Given the description of an element on the screen output the (x, y) to click on. 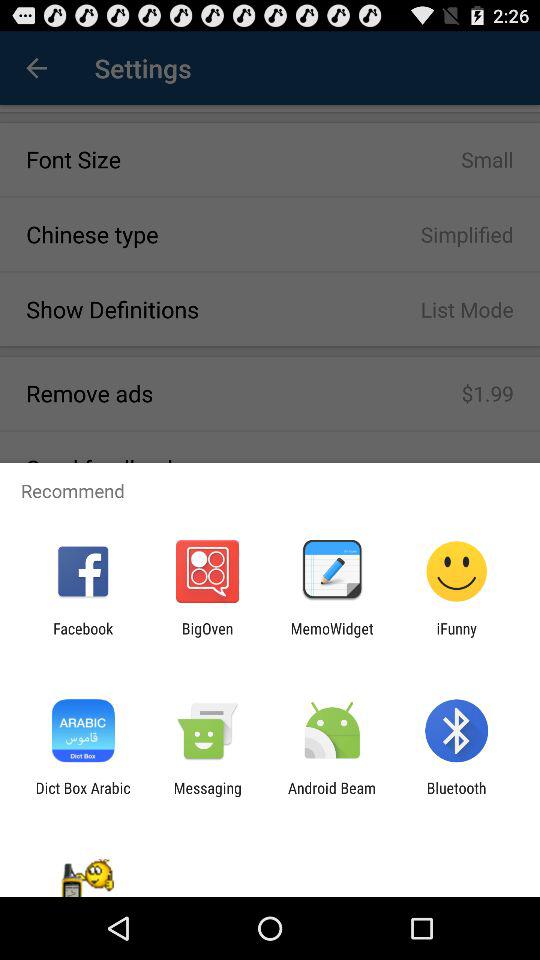
flip until the dict box arabic app (82, 796)
